Given the description of an element on the screen output the (x, y) to click on. 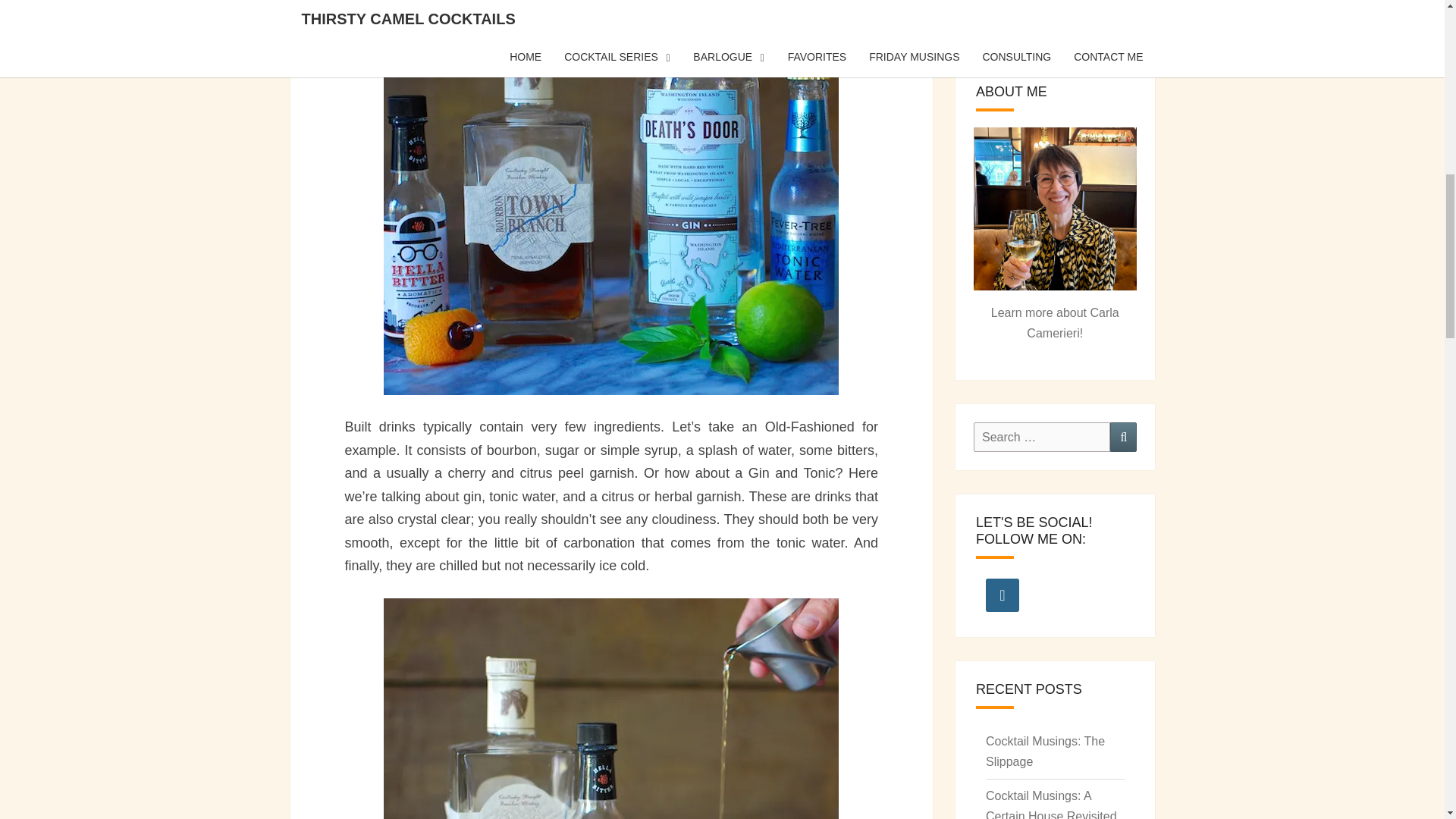
Search for: (1041, 437)
